Given the description of an element on the screen output the (x, y) to click on. 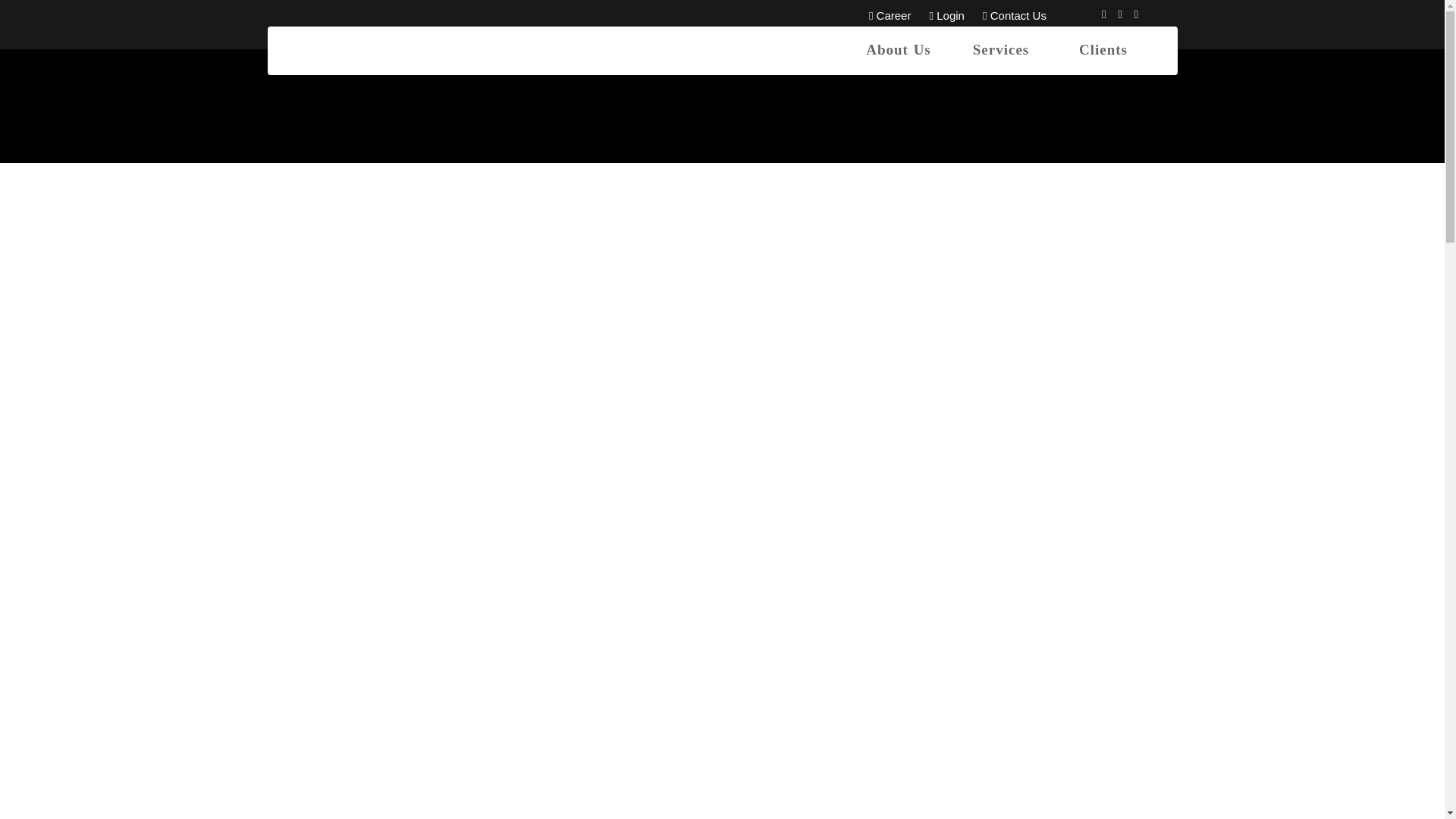
Social Sector Experience (792, 669)
Qualitative Services (780, 607)
Quantitative Services (783, 587)
Services (1000, 49)
About Us (898, 49)
Send (1030, 728)
Career (890, 15)
Contact Us (1014, 15)
Send (1030, 728)
Foresight Household Panel (797, 648)
